Given the description of an element on the screen output the (x, y) to click on. 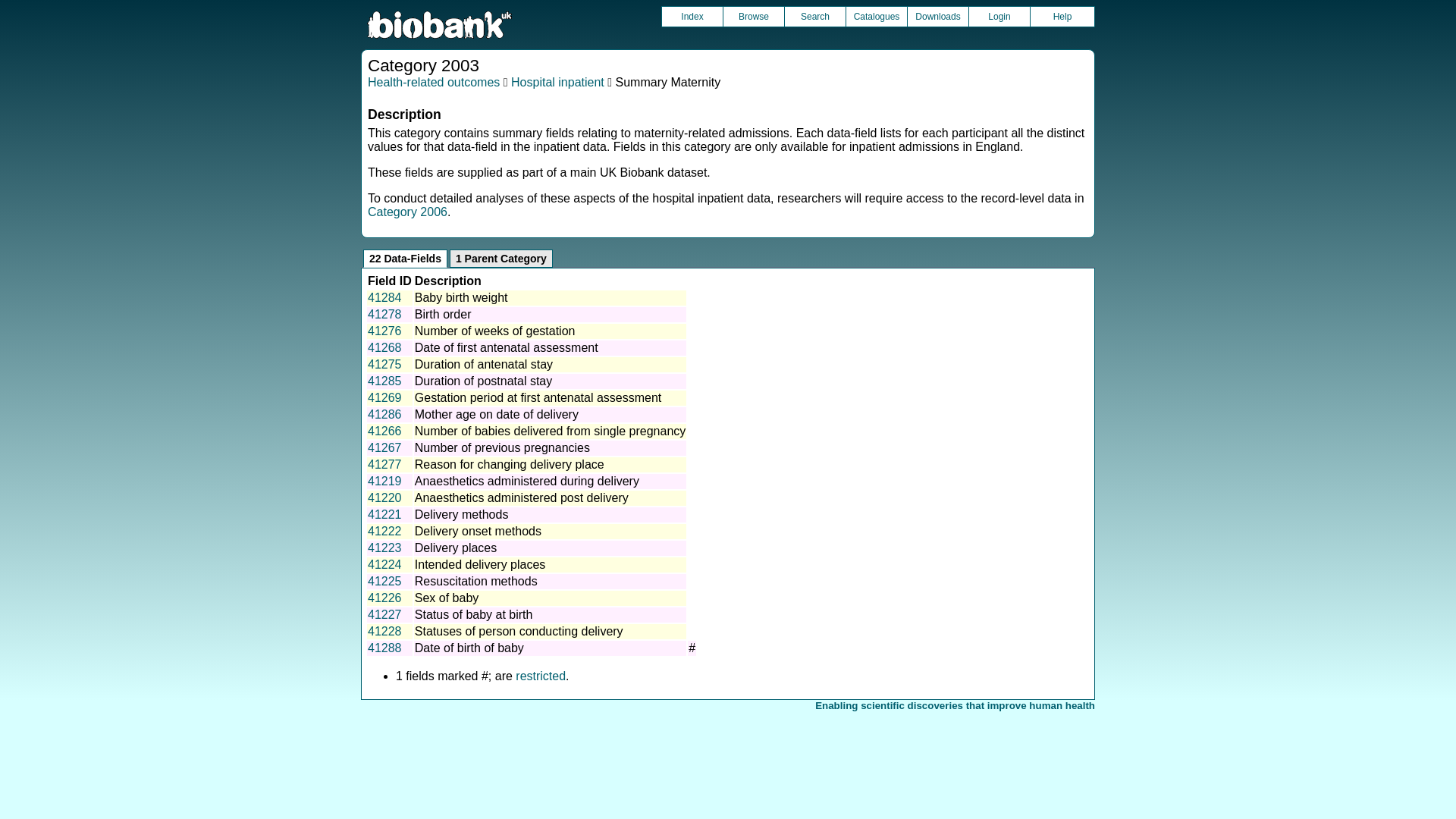
41285 (384, 380)
41266 (384, 431)
41269 (384, 397)
Category 2006 (407, 211)
41277 (384, 463)
Number of previous pregnancies (501, 447)
Hospital inpatient (557, 82)
Anaesthetics administered post delivery (521, 497)
Gestation period at first antenatal assessment (538, 397)
Number of babies delivered from single pregnancy (549, 431)
41284 (384, 297)
Login (999, 16)
Health-related outcomes (433, 82)
Catalogues (876, 16)
41278 (384, 314)
